Given the description of an element on the screen output the (x, y) to click on. 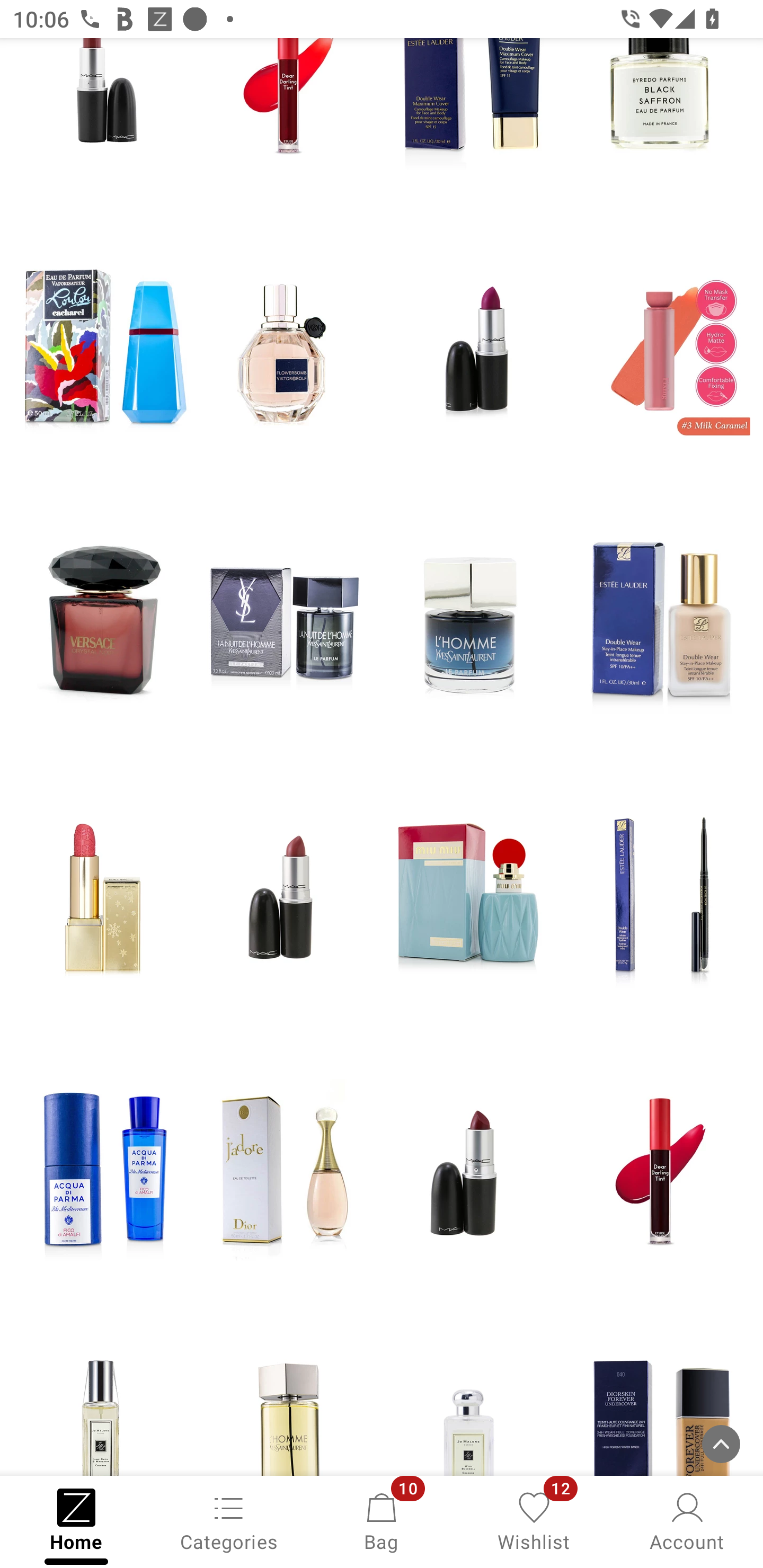
Categories (228, 1519)
Bag, 10 new notifications Bag (381, 1519)
Wishlist, 12 new notifications Wishlist (533, 1519)
Account (686, 1519)
